Given the description of an element on the screen output the (x, y) to click on. 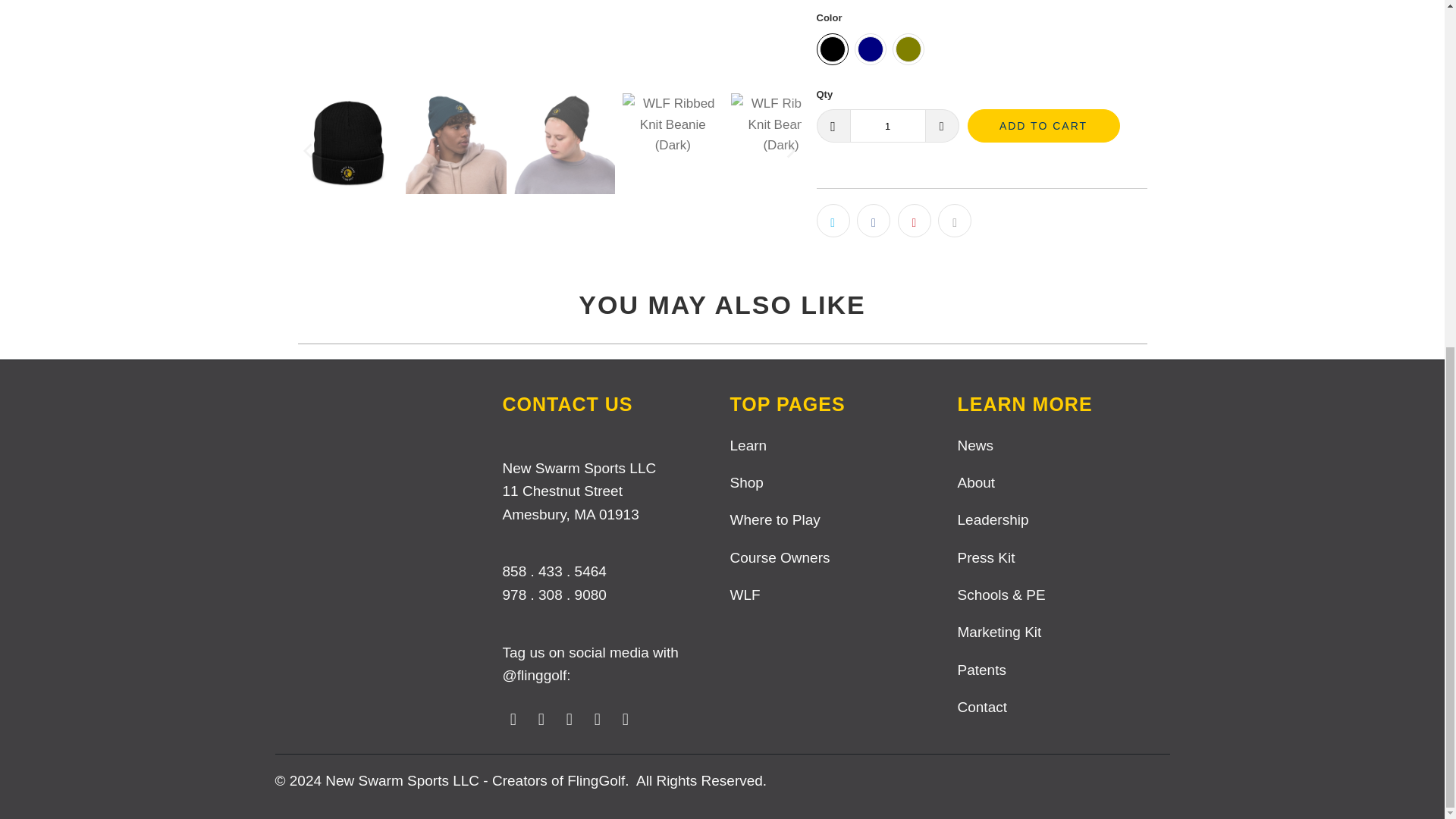
1 (886, 125)
Share this on Pinterest (914, 220)
Share this on Facebook (873, 220)
Email this to a friend (954, 220)
Share this on Twitter (831, 220)
